Given the description of an element on the screen output the (x, y) to click on. 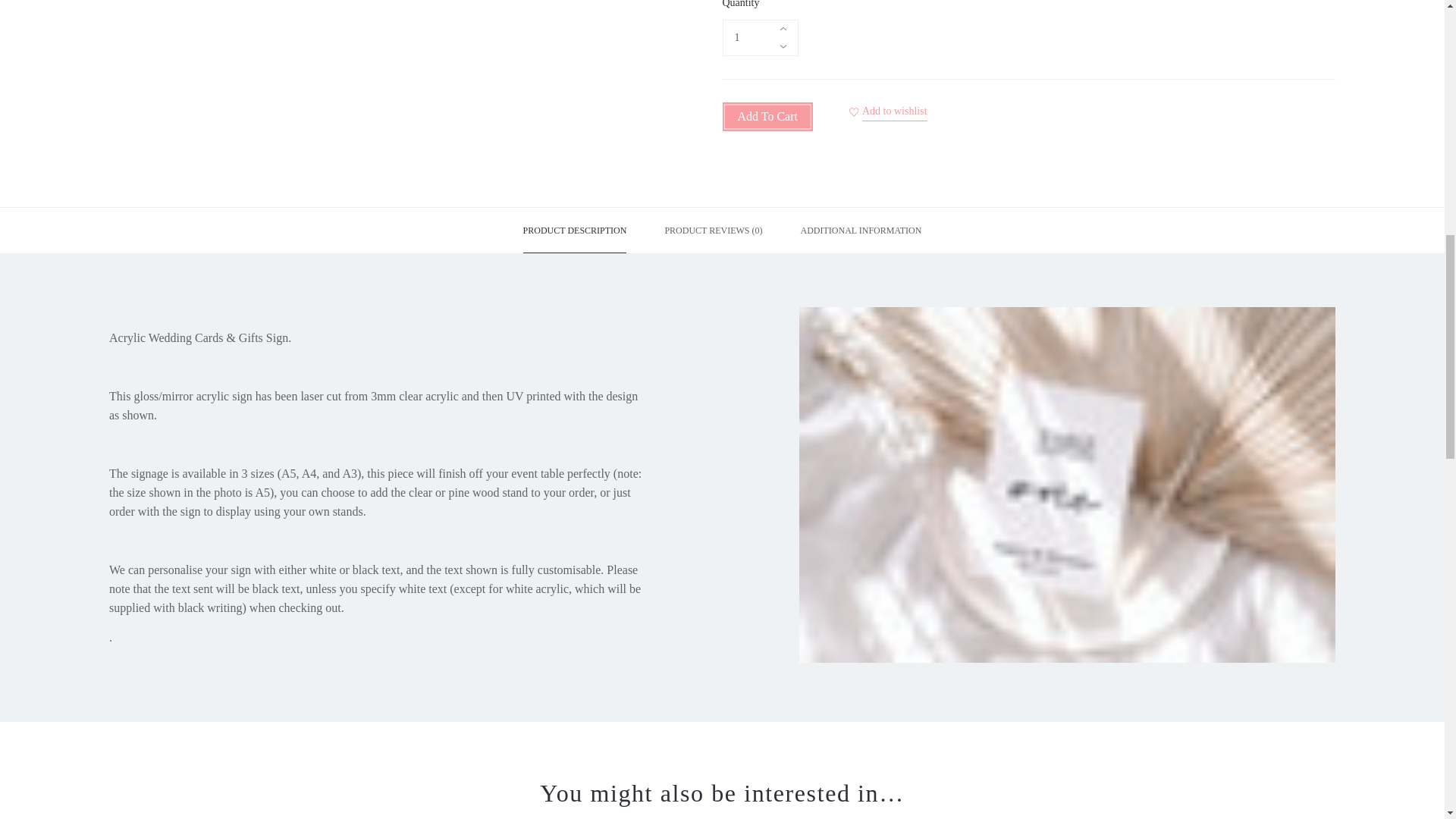
Add To Cart (767, 116)
1 (759, 37)
Add to wishlist (894, 111)
ADDITIONAL INFORMATION (860, 230)
PRODUCT DESCRIPTION (574, 230)
